Given the description of an element on the screen output the (x, y) to click on. 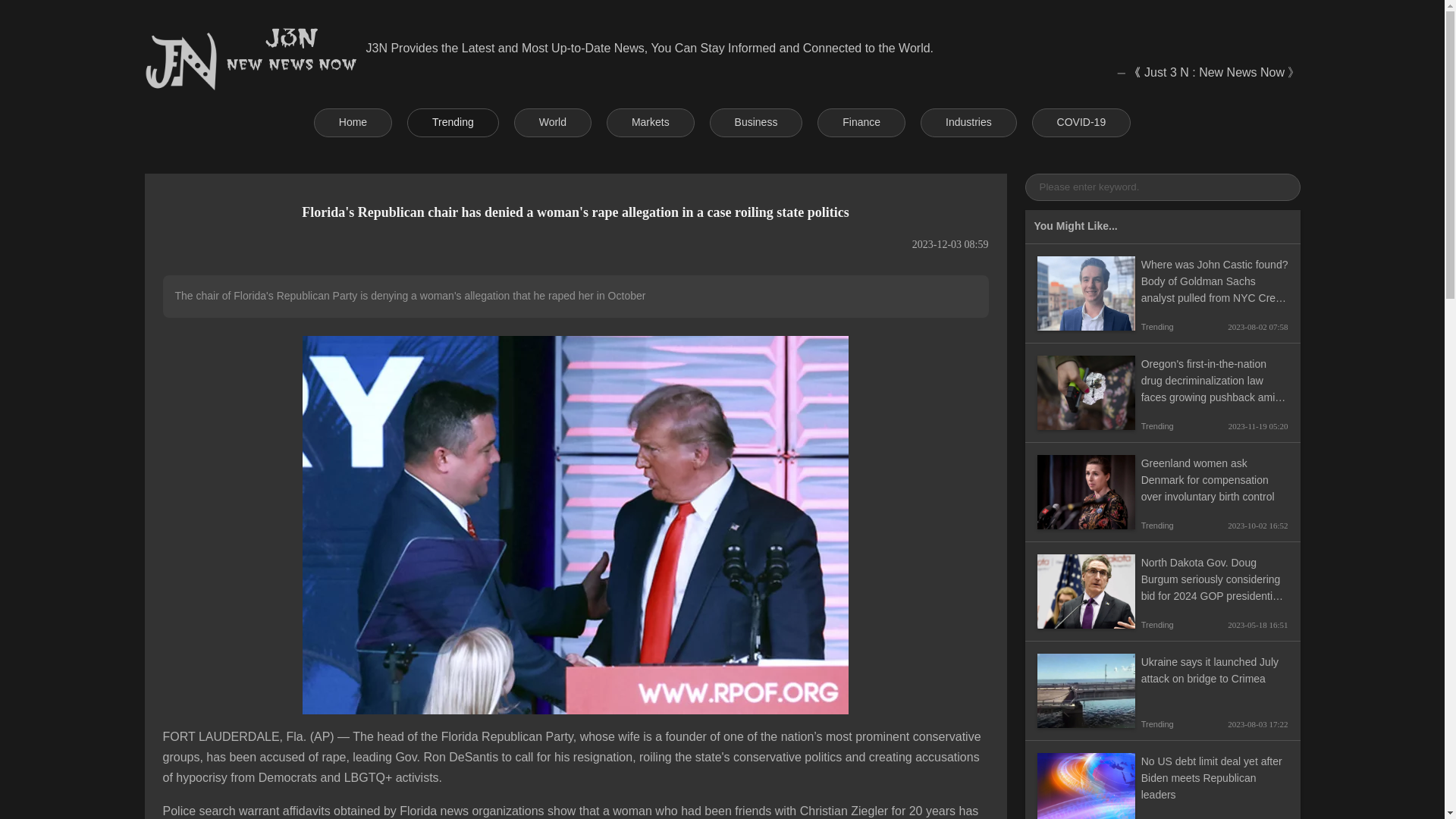
Markets (650, 122)
Home (352, 122)
COVID-19 (1081, 122)
Business (756, 122)
Trending (453, 122)
Industries (968, 122)
World (552, 122)
Finance (860, 122)
